Given the description of an element on the screen output the (x, y) to click on. 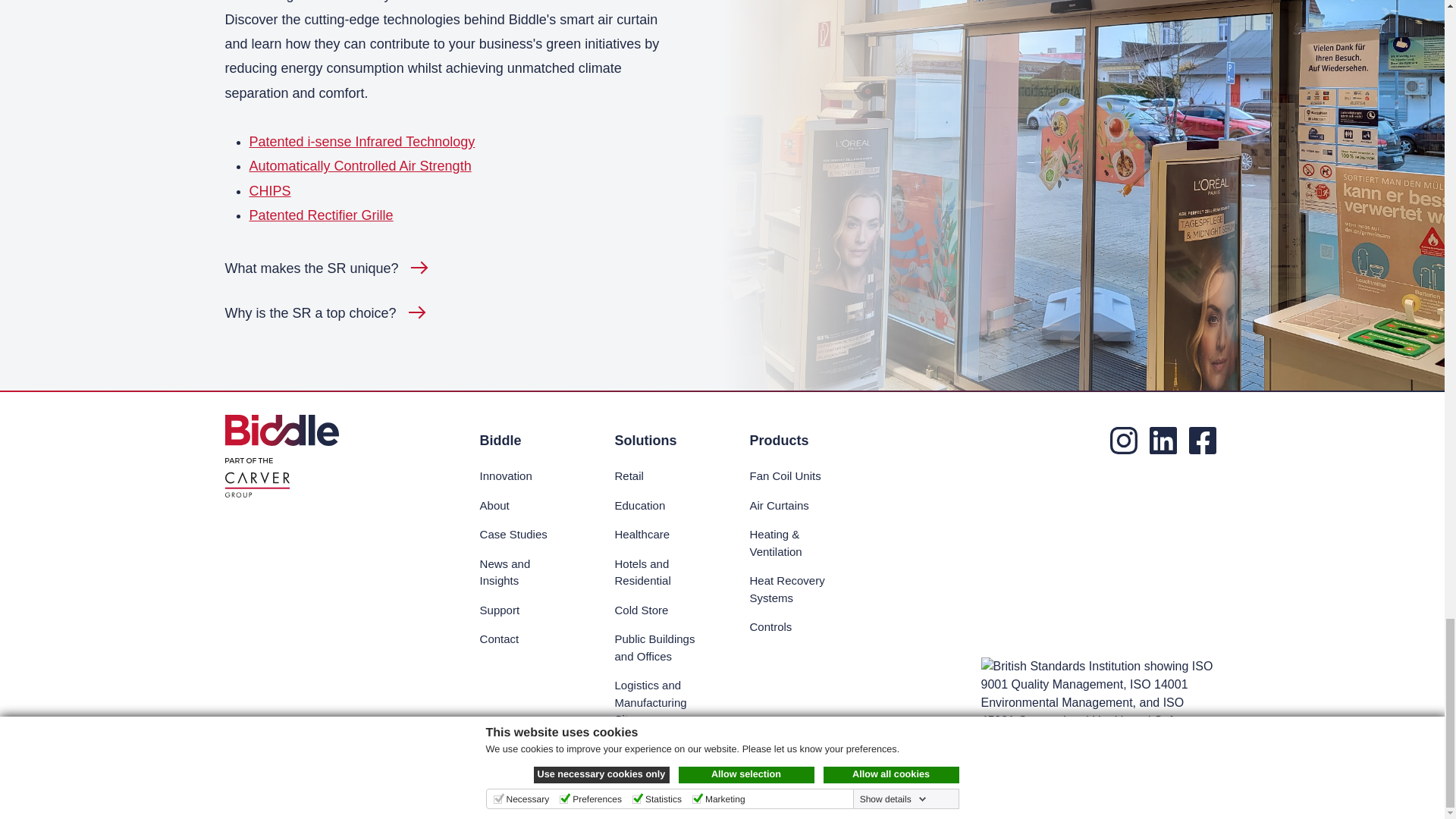
Instagram logo (1123, 440)
Facebook logo (1202, 440)
LinkedIn logo (1163, 440)
